Given the description of an element on the screen output the (x, y) to click on. 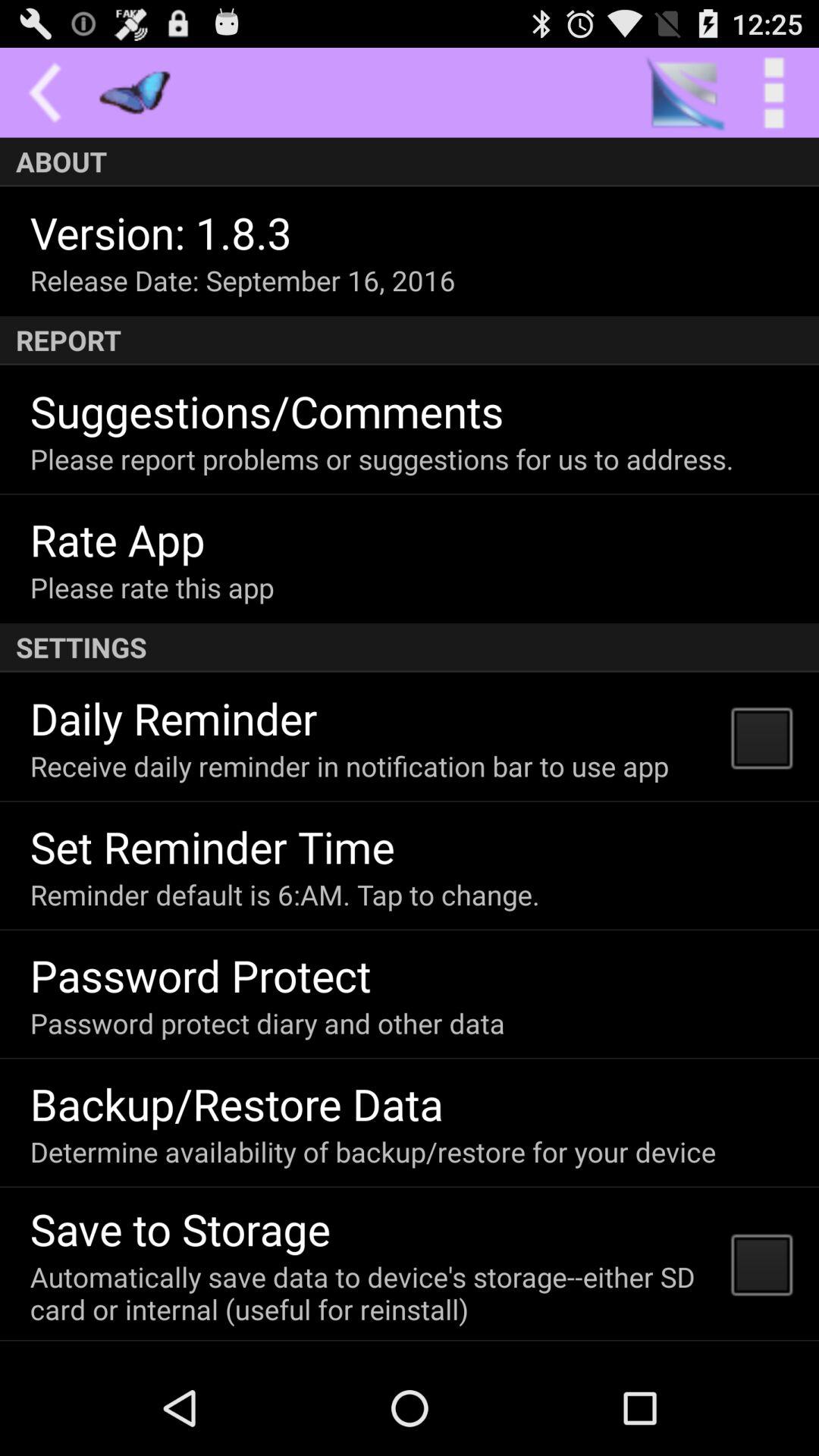
open app above the release date september app (160, 232)
